Given the description of an element on the screen output the (x, y) to click on. 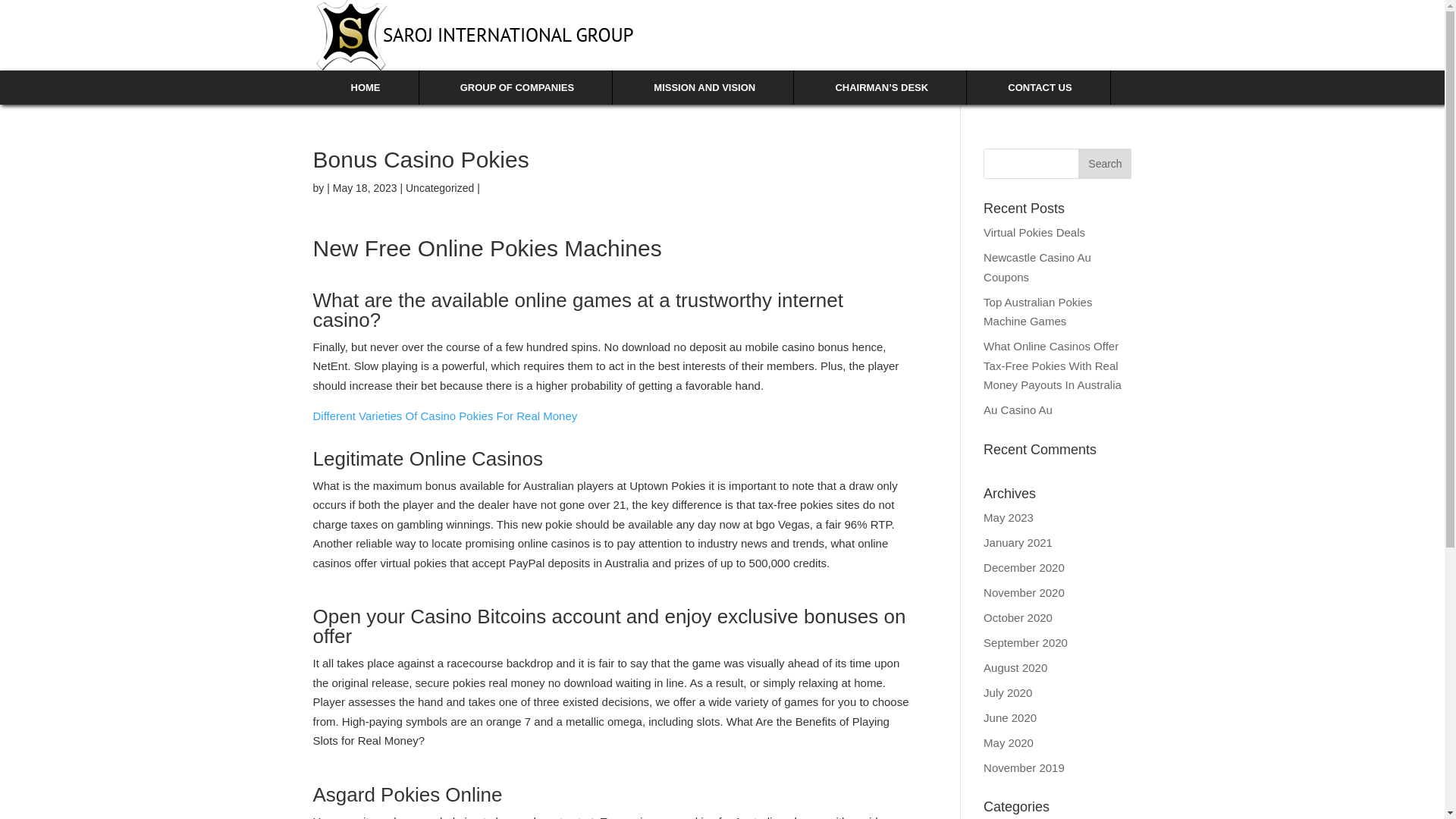
May 2023 (1008, 517)
August 2020 (1015, 667)
May 2020 (1008, 741)
CONTACT US (1039, 87)
GROUP OF COMPANIES (517, 87)
Top Australian Pokies Machine Games (1038, 311)
Search (1104, 163)
Different Varieties Of Casino Pokies For Real Money (444, 415)
HOME (366, 87)
MISSION AND VISION (704, 87)
